Given the description of an element on the screen output the (x, y) to click on. 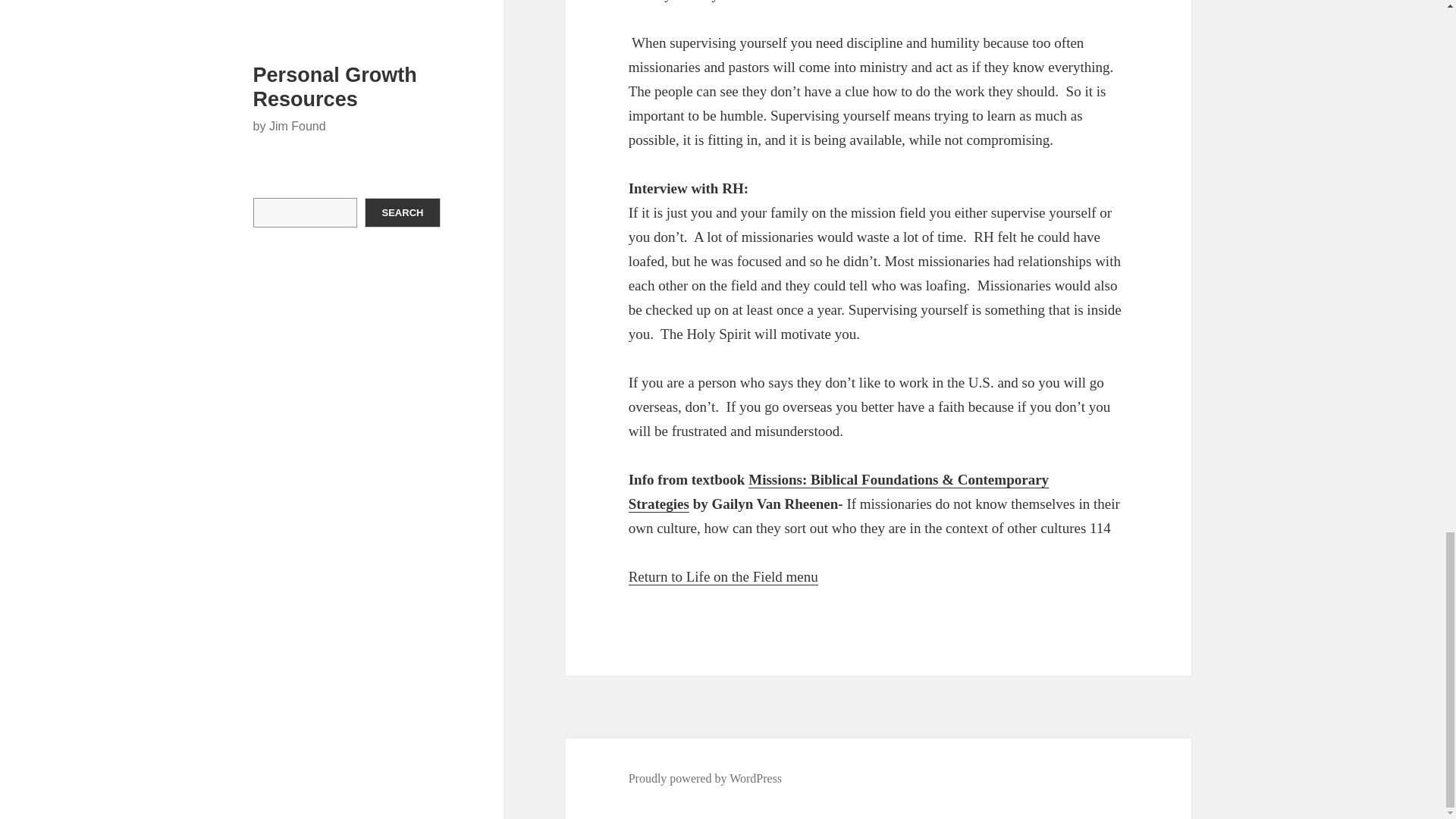
Return to Life on the Field menu (723, 576)
Proudly powered by WordPress (704, 778)
